Given the description of an element on the screen output the (x, y) to click on. 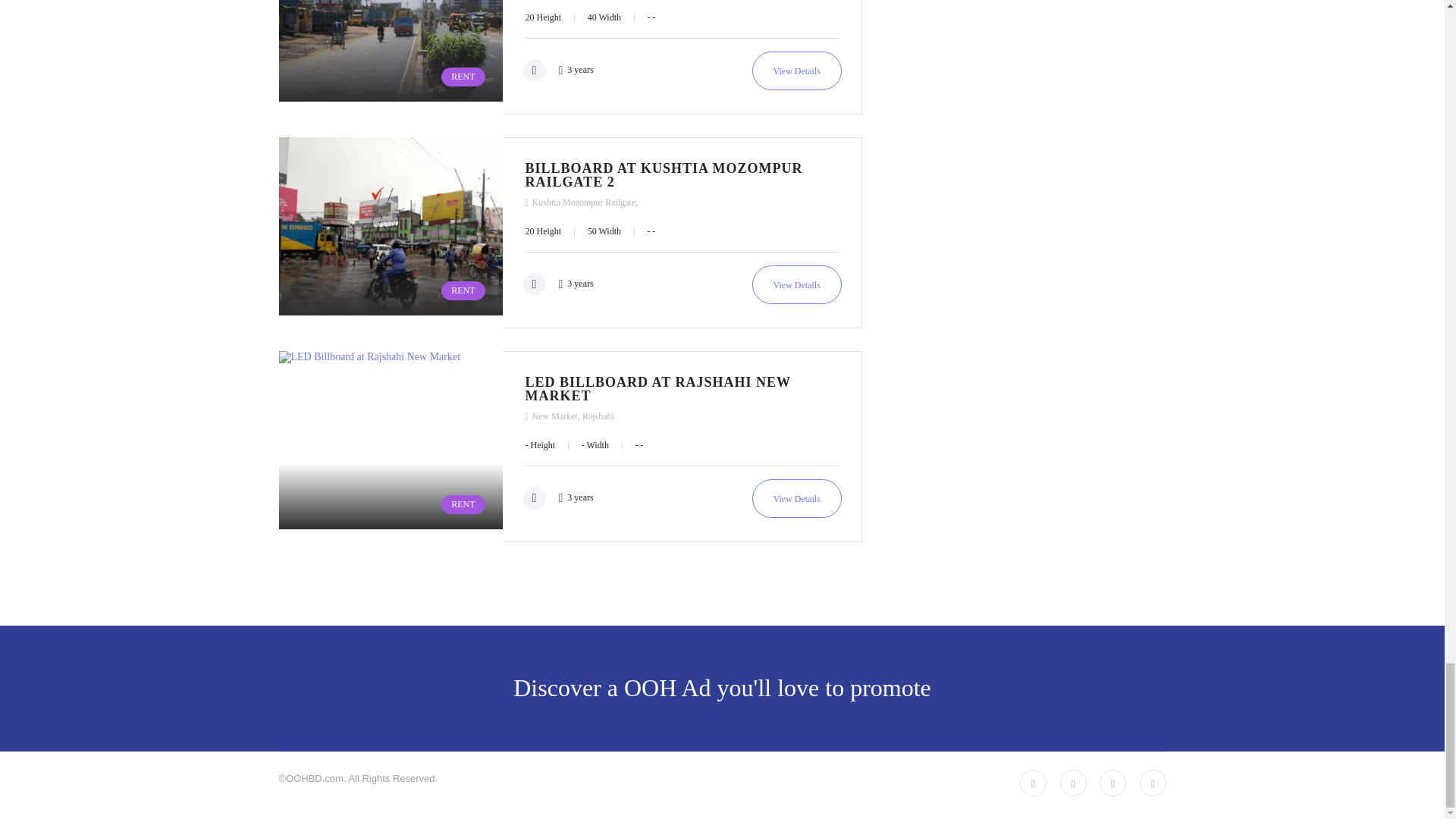
Billboard at Savar Hamayatpur Bus Stand, (390, 57)
2021-08-04 14:51:52 (570, 69)
Billboard at  Kushtia Mozompur Railgate 2 (390, 232)
Billboard at Savar Hamayatpur Bus Stand, (796, 70)
